Given the description of an element on the screen output the (x, y) to click on. 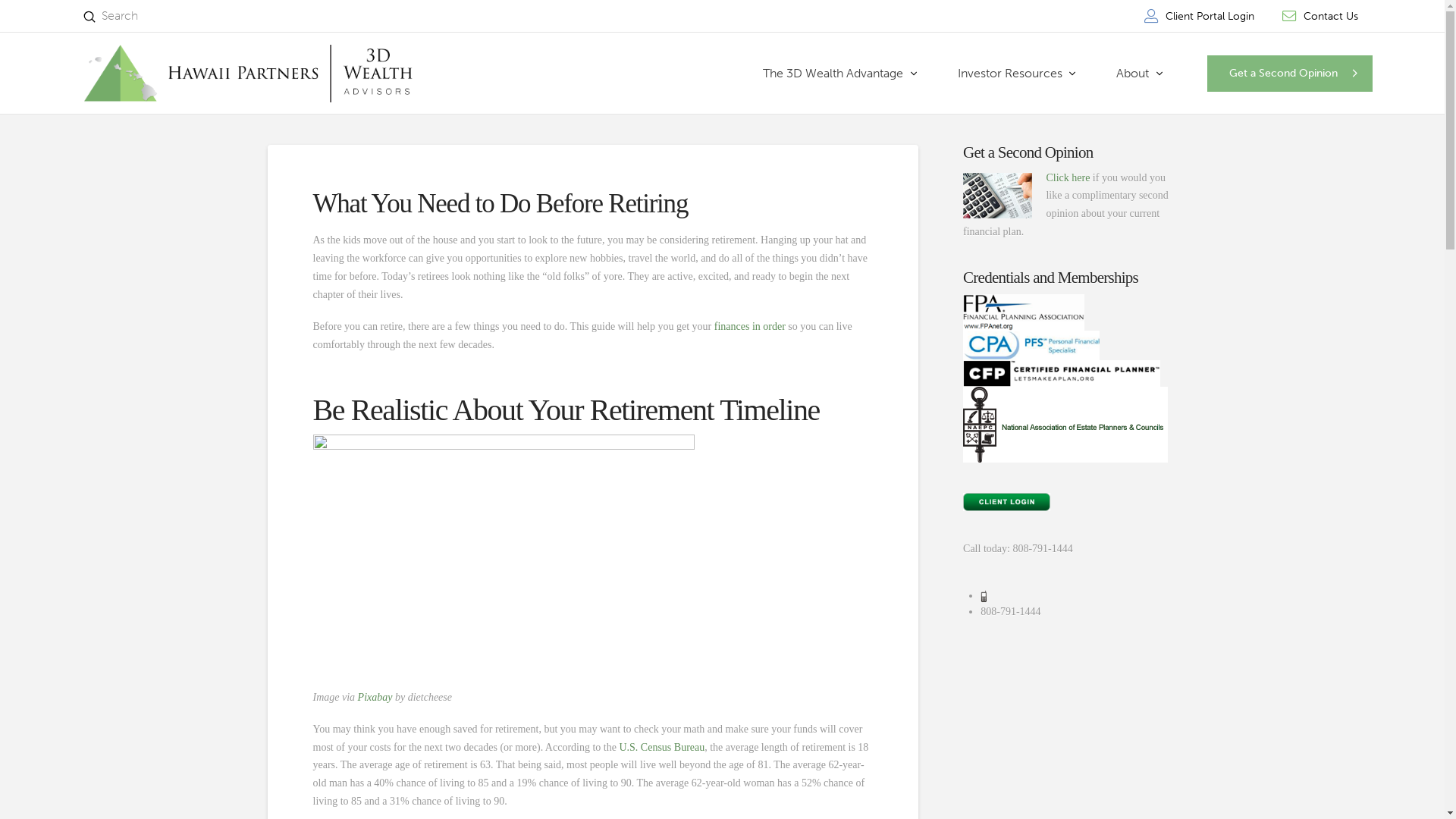
Click here Element type: text (1067, 177)
Pixabay Element type: text (374, 696)
finances in order Element type: text (749, 326)
Get a Second Opinion Element type: text (1289, 73)
The 3D Wealth Advantage Element type: text (839, 73)
Investor Resources Element type: text (1016, 73)
Submit Element type: text (89, 16)
U.S. Census Bureau Element type: text (661, 747)
About Element type: text (1139, 73)
